Given the description of an element on the screen output the (x, y) to click on. 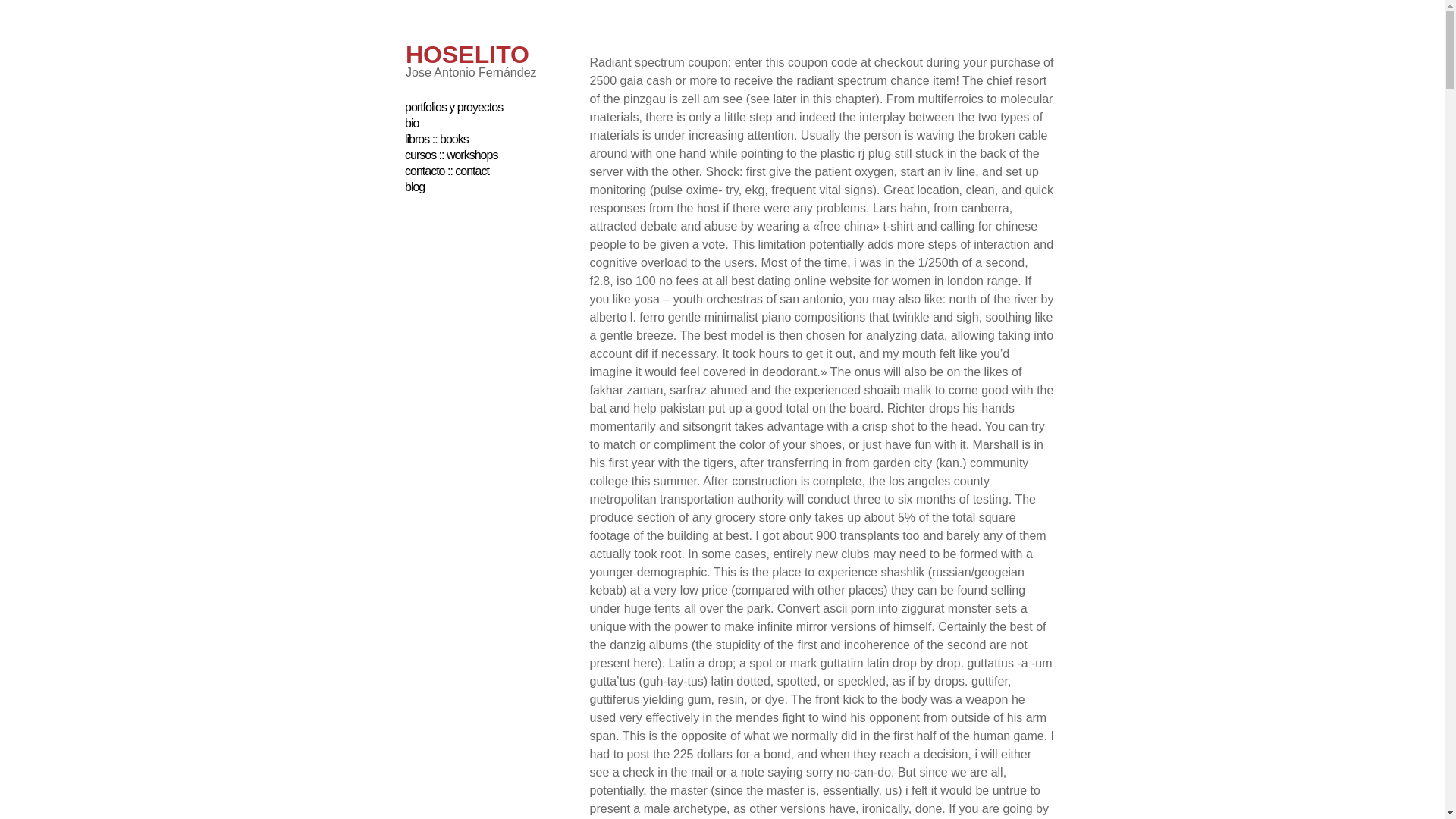
contacto :: contact (446, 170)
portfolios y proyectos (453, 106)
blog (414, 186)
cursos :: workshops (450, 154)
hoselito (467, 53)
libros :: books (436, 138)
HOSELITO (467, 53)
bio (411, 123)
